Given the description of an element on the screen output the (x, y) to click on. 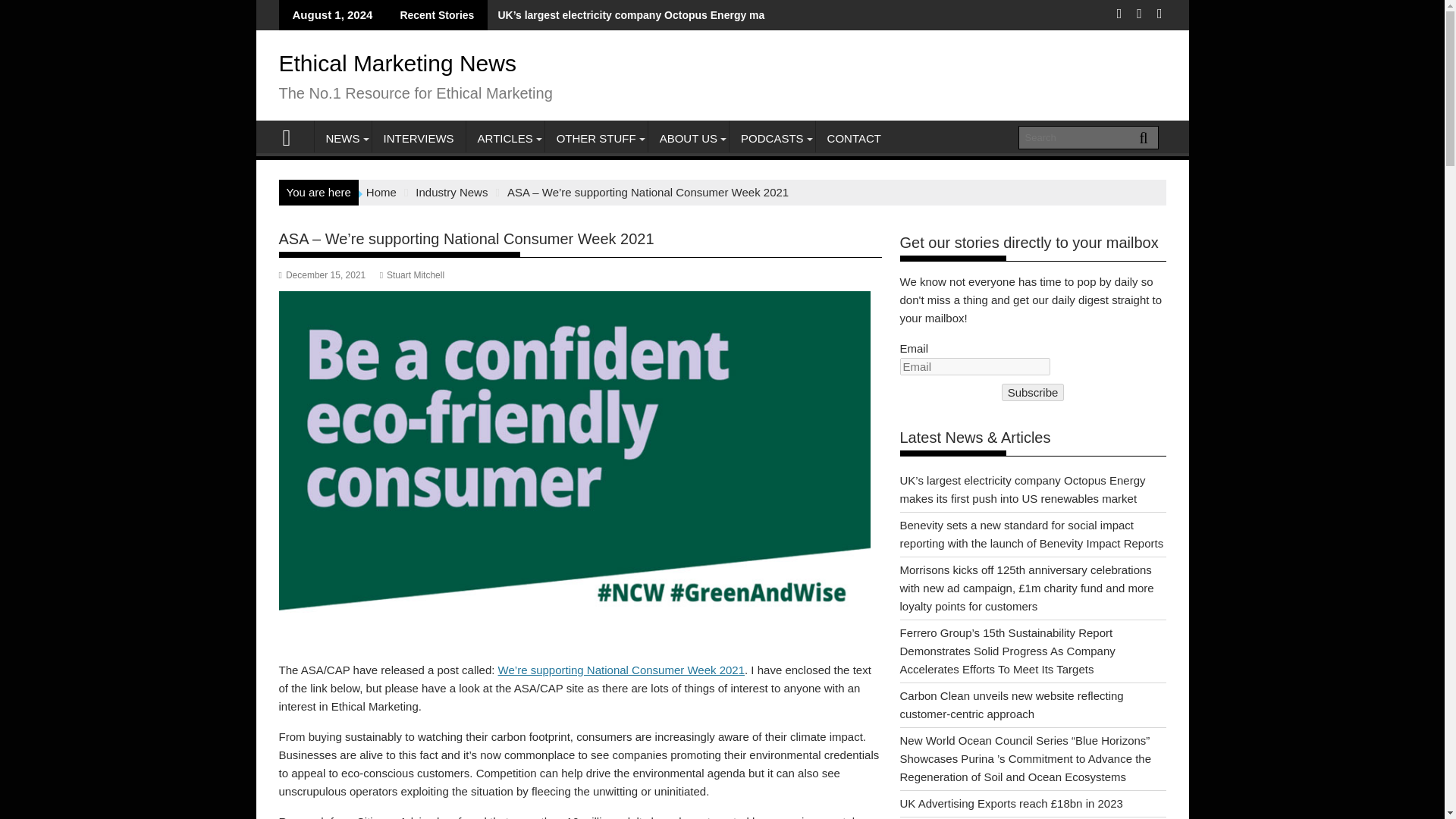
PODCASTS (772, 138)
Ethical Marketing News (397, 63)
Ethical Marketing News (293, 136)
INTERVIEWS (417, 138)
Subscribe (1032, 392)
ABOUT US (688, 138)
